Given the description of an element on the screen output the (x, y) to click on. 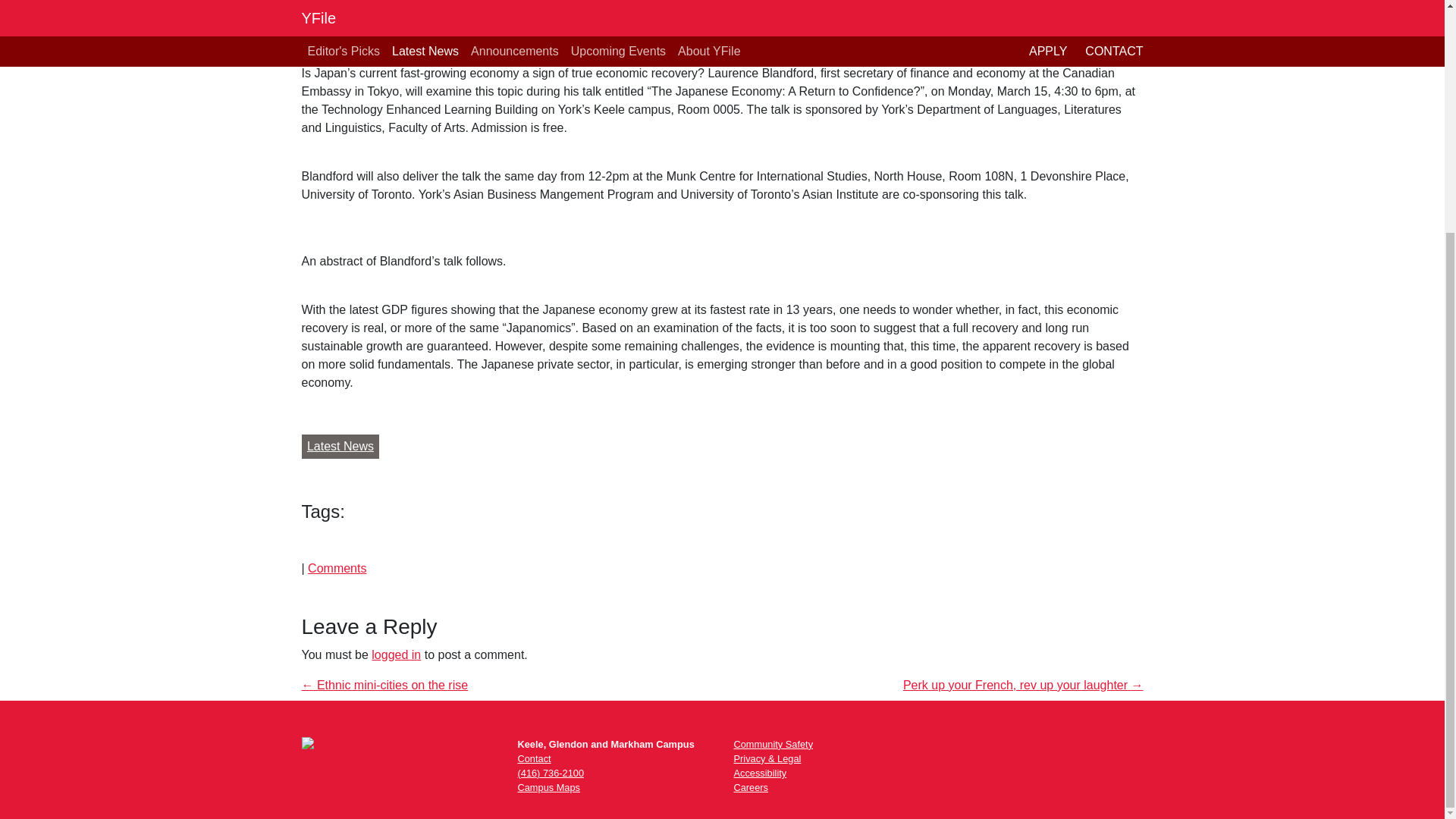
Latest News (340, 446)
Contact (533, 758)
logged in (395, 654)
Comments (336, 567)
